Given the description of an element on the screen output the (x, y) to click on. 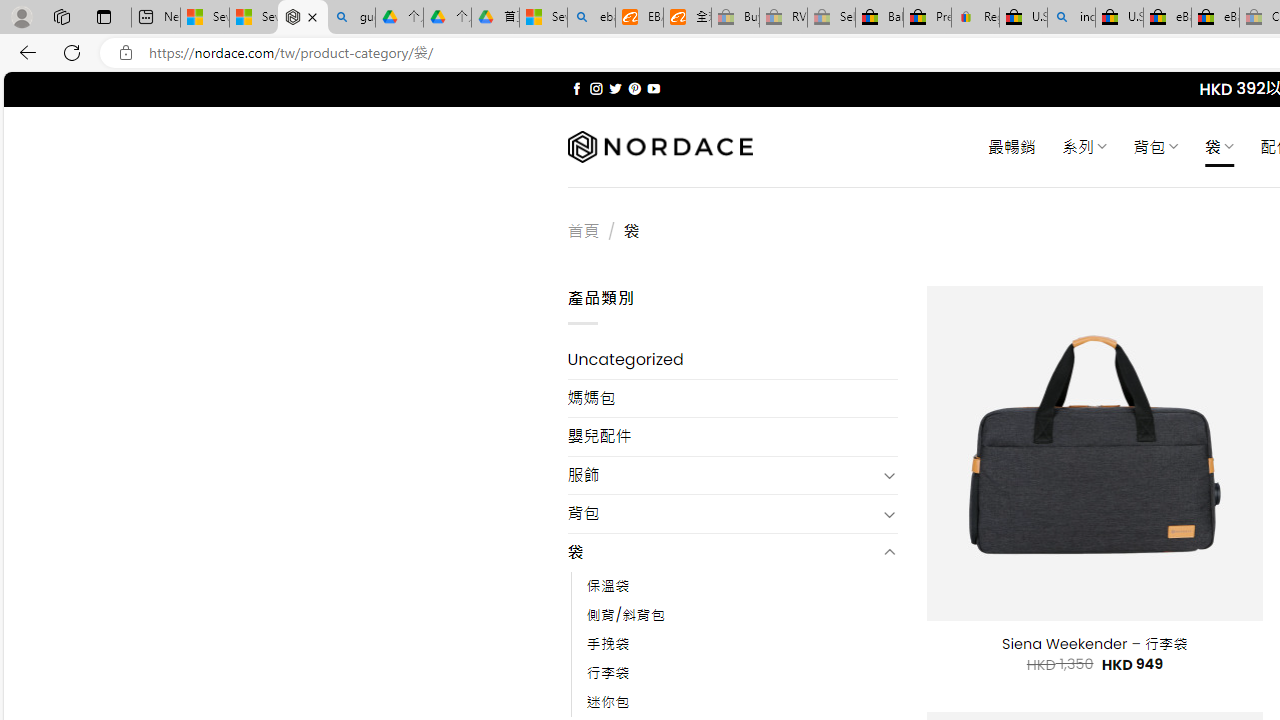
Follow on Facebook (576, 88)
